Given the description of an element on the screen output the (x, y) to click on. 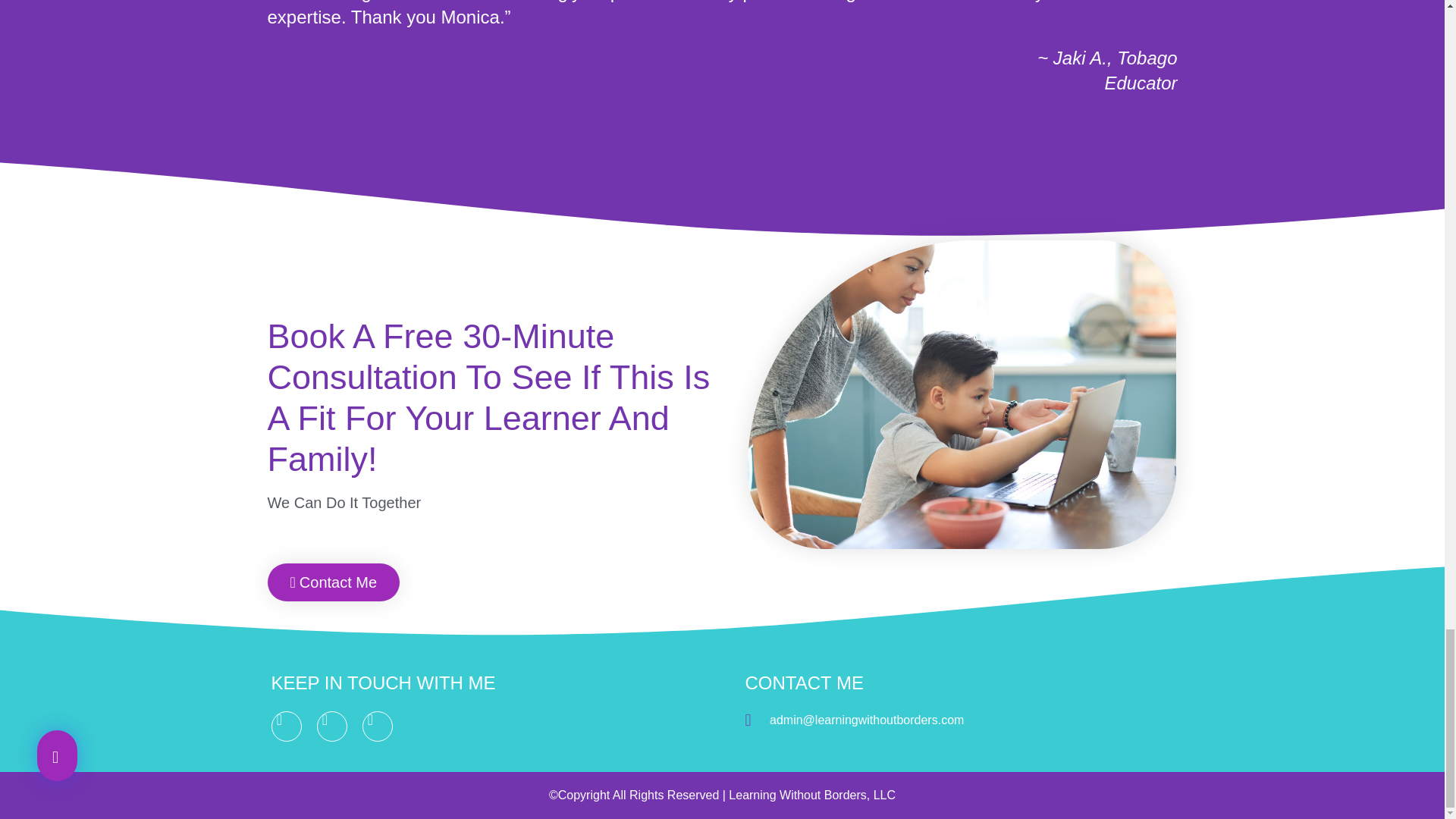
Contact Me (332, 582)
